Given the description of an element on the screen output the (x, y) to click on. 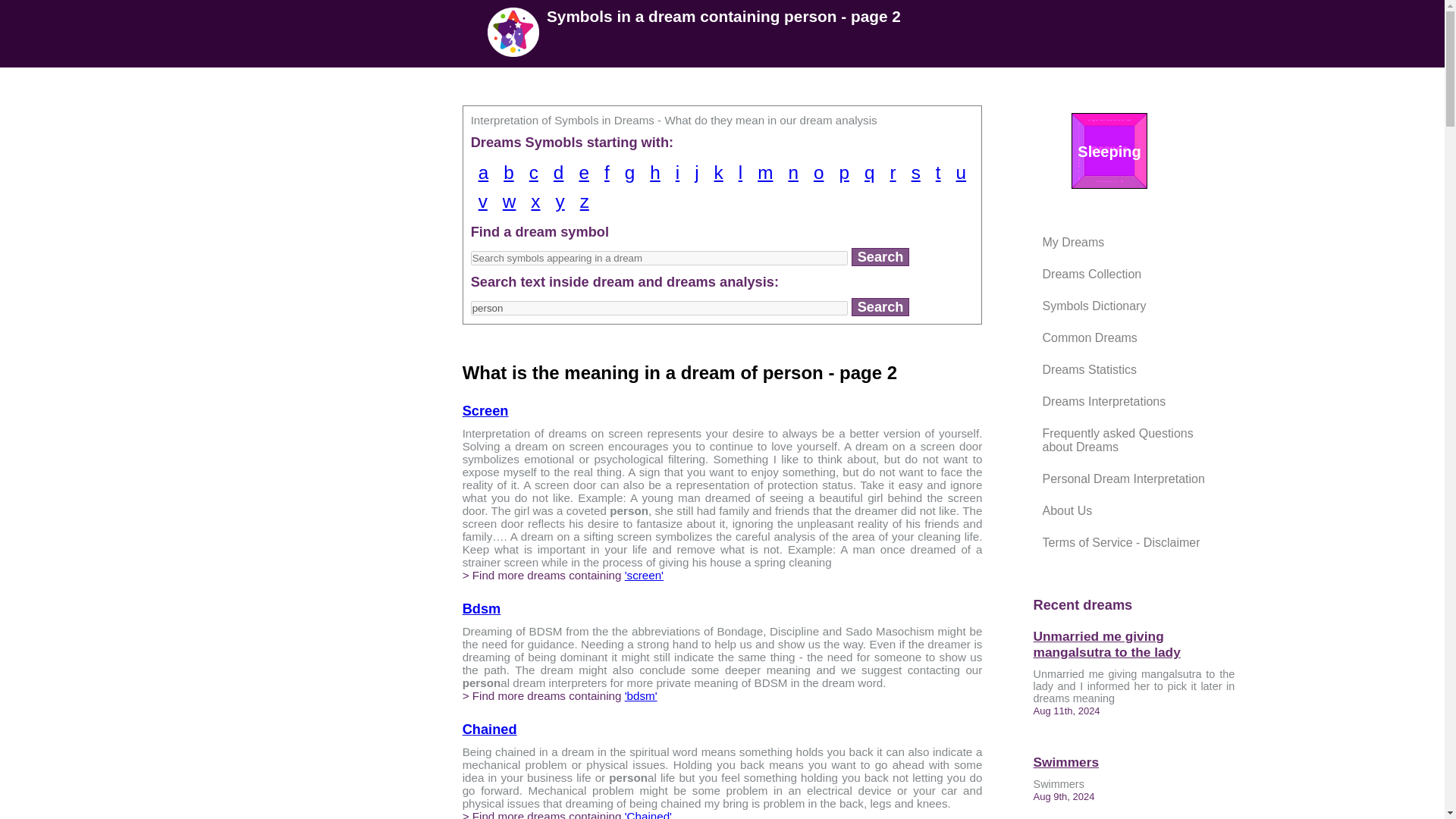
person (659, 308)
person (659, 308)
g (630, 172)
h (655, 172)
Find more dreams containing bdsm (641, 695)
d (559, 172)
Find more dreams containing screen (643, 574)
m (764, 172)
'bdsm' (641, 695)
o (818, 172)
